Given the description of an element on the screen output the (x, y) to click on. 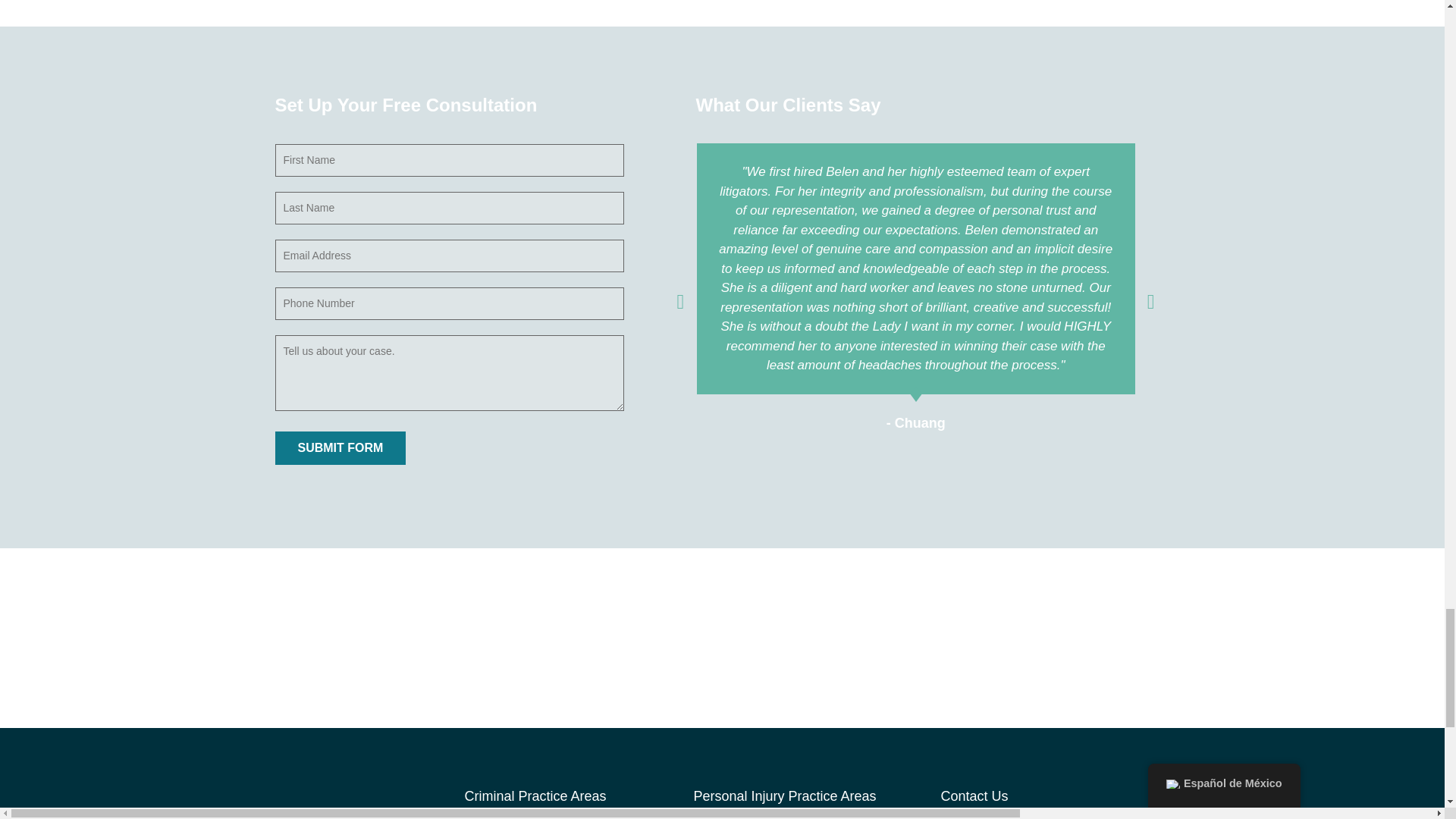
Submit Form (340, 448)
